Given the description of an element on the screen output the (x, y) to click on. 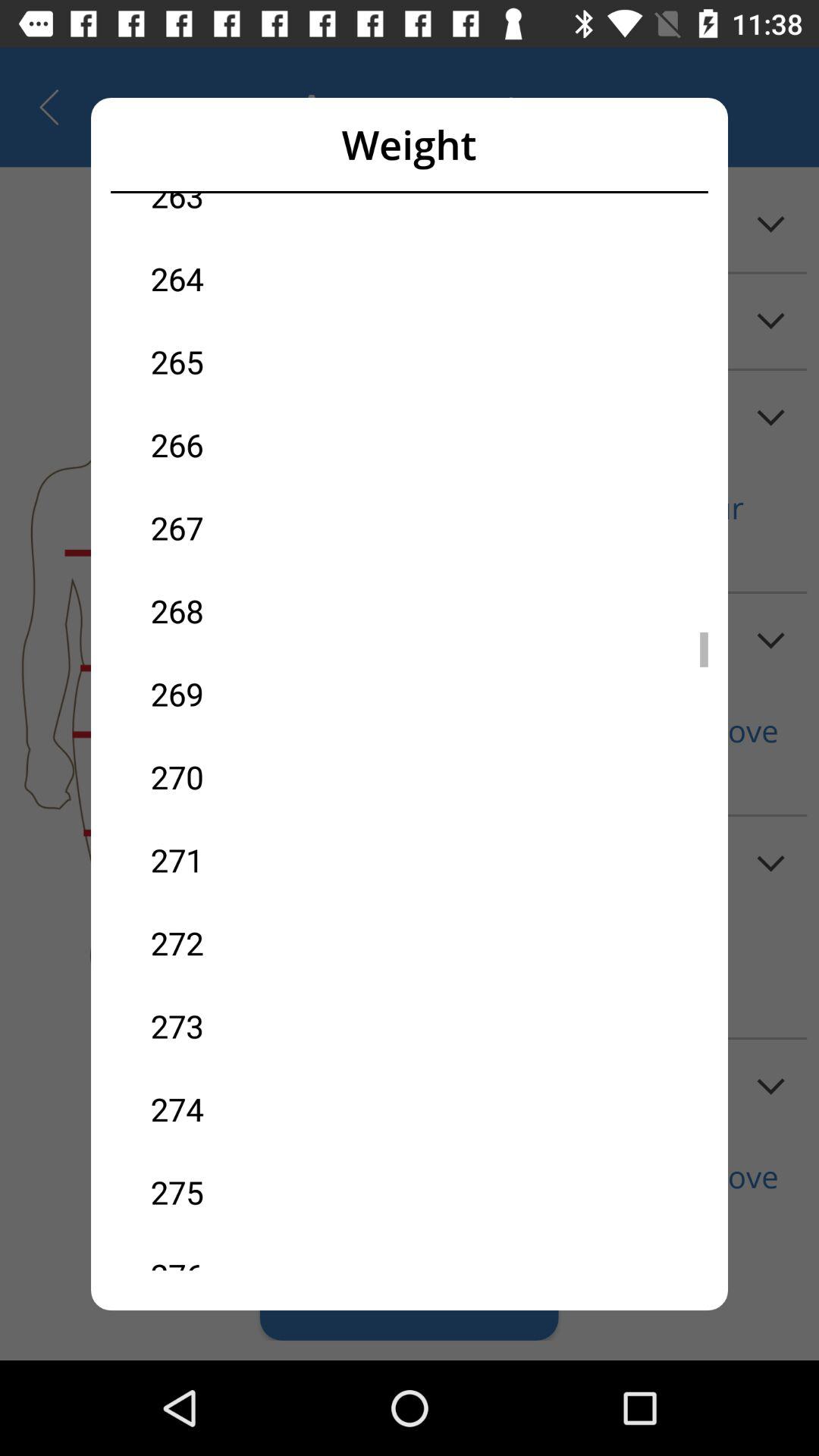
swipe until 266 item (279, 444)
